Given the description of an element on the screen output the (x, y) to click on. 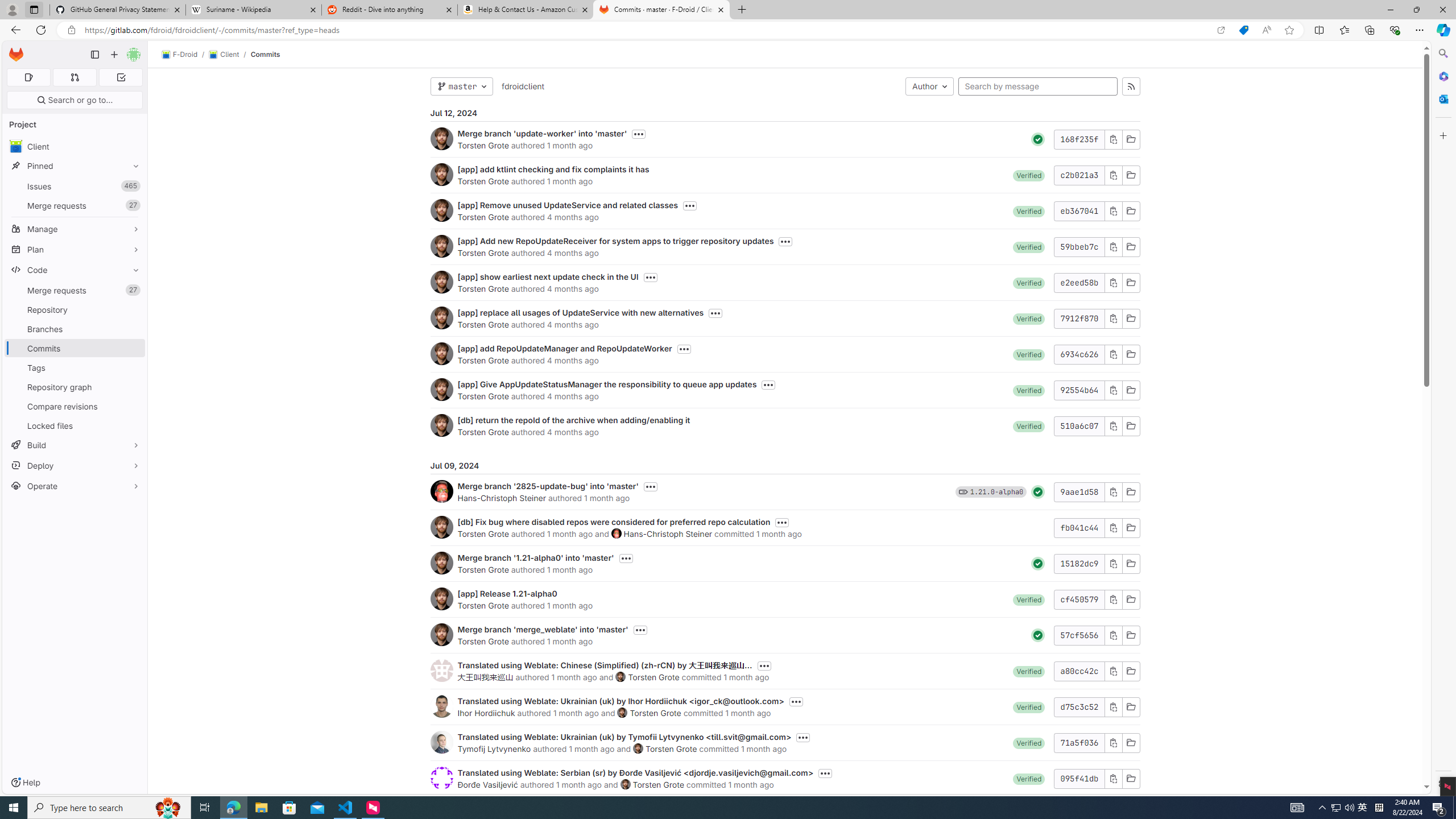
Merge branch 'merge_weblate' into 'master' (542, 628)
Toggle commit description (825, 773)
Client (223, 54)
Ihor Hordiichuk (486, 712)
Pinned (74, 165)
Branches (74, 328)
Pin Locked files (132, 425)
Commits feed (1130, 85)
Torsten Grote's avatar (625, 783)
Locked files (74, 425)
Merge requests 27 (74, 289)
